Given the description of an element on the screen output the (x, y) to click on. 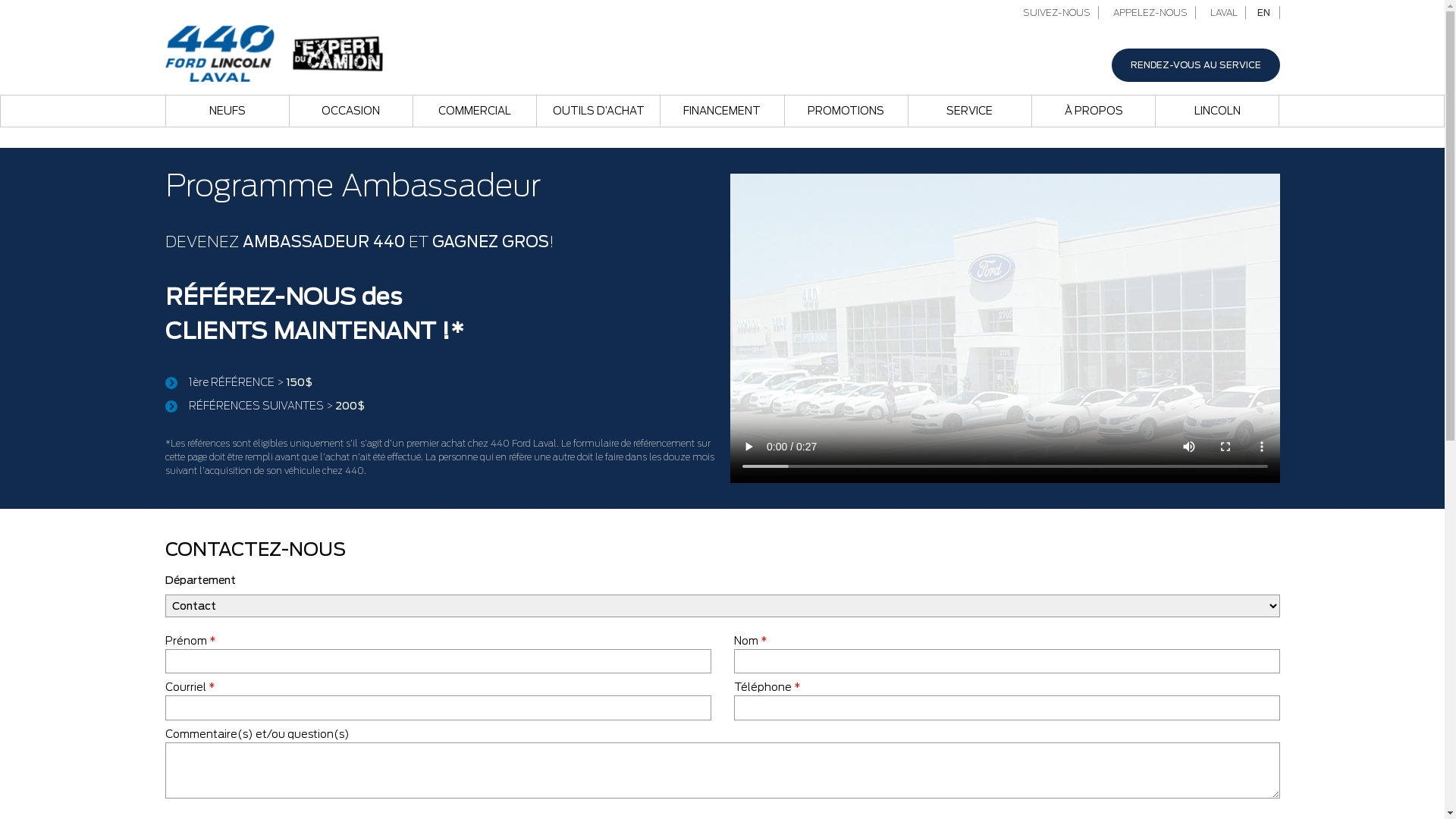
RENDEZ-VOUS AU SERVICE Element type: text (1195, 64)
  LAVAL Element type: text (1221, 12)
LINCOLN Element type: text (1216, 110)
  APPELEZ-NOUS Element type: text (1148, 12)
OCCASION Element type: text (350, 110)
FINANCEMENT Element type: text (721, 110)
440 Ford Laval Element type: hover (274, 50)
SERVICE Element type: text (969, 110)
PROMOTIONS Element type: text (845, 110)
NEUFS Element type: text (226, 110)
EN Element type: text (1264, 12)
  SUIVEZ-NOUS Element type: text (1054, 12)
COMMERCIAL Element type: text (474, 110)
